Given the description of an element on the screen output the (x, y) to click on. 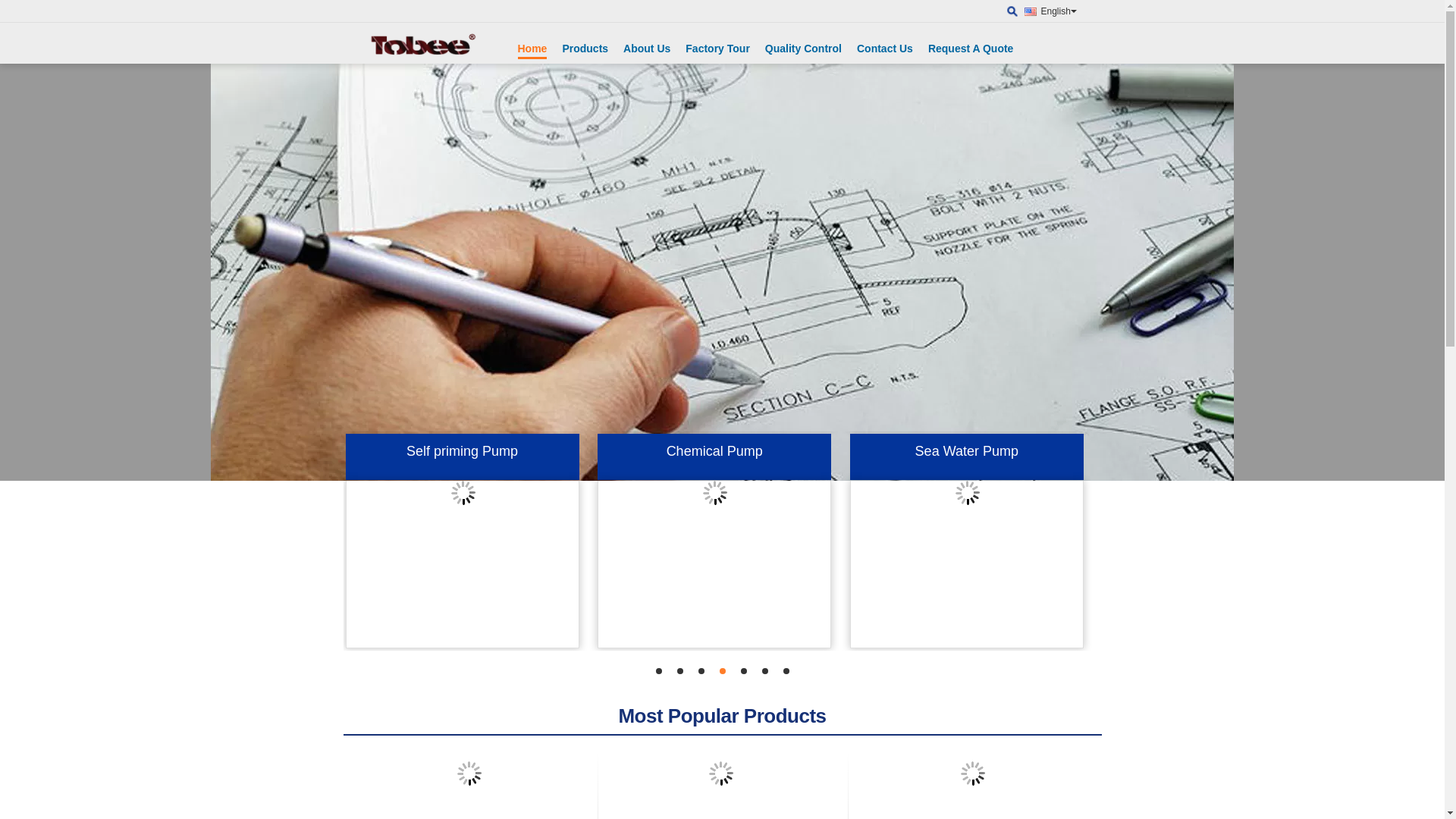
Quality Control Element type: text (803, 48)
Boiler Feed Water Pump Element type: text (966, 465)
English Element type: text (1062, 12)
Split Case Pump Element type: text (462, 465)
China Split Case Pump Manufacturers Element type: hover (462, 563)
Request A Quote Element type: text (970, 48)
China Multistage Pump Manufacturers Element type: hover (714, 563)
Home Element type: text (531, 50)
About Us Element type: text (646, 48)
Multistage Pump Element type: text (714, 465)
Hebei Tobee Group Co.,Limited Element type: hover (1011, 10)
China Boiler Feed Water Pump Manufacturers Element type: hover (967, 563)
Products Element type: text (584, 48)
Contact Us Element type: text (884, 48)
Slurry Pump Element type: hover (722, 271)
Factory Tour Element type: text (717, 48)
